Given the description of an element on the screen output the (x, y) to click on. 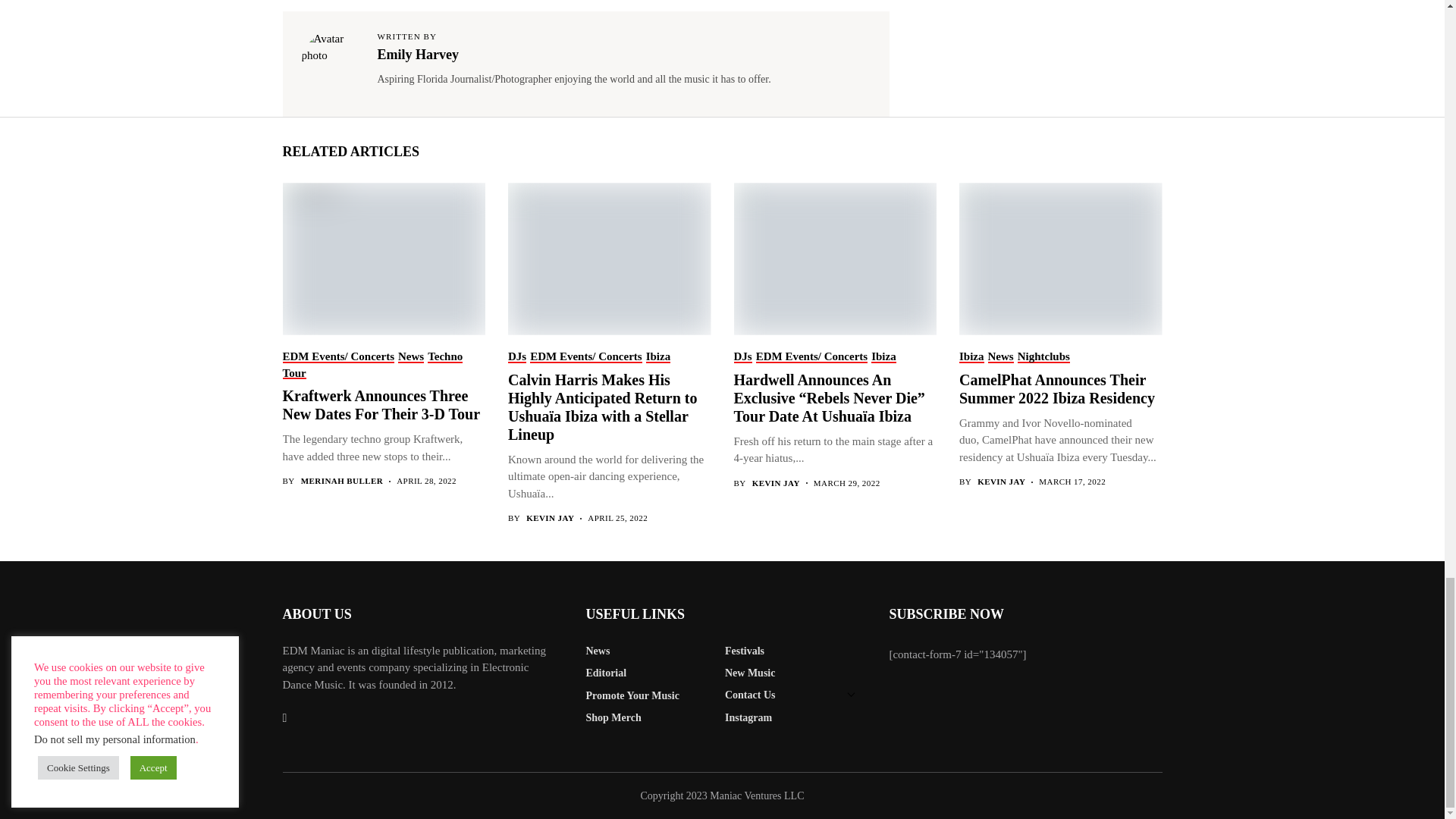
Posts by Kevin Jay (1000, 481)
Posts by Kevin Jay (549, 518)
Posts by Kevin Jay (775, 483)
Posts by Merinah Buller (342, 480)
